Given the description of an element on the screen output the (x, y) to click on. 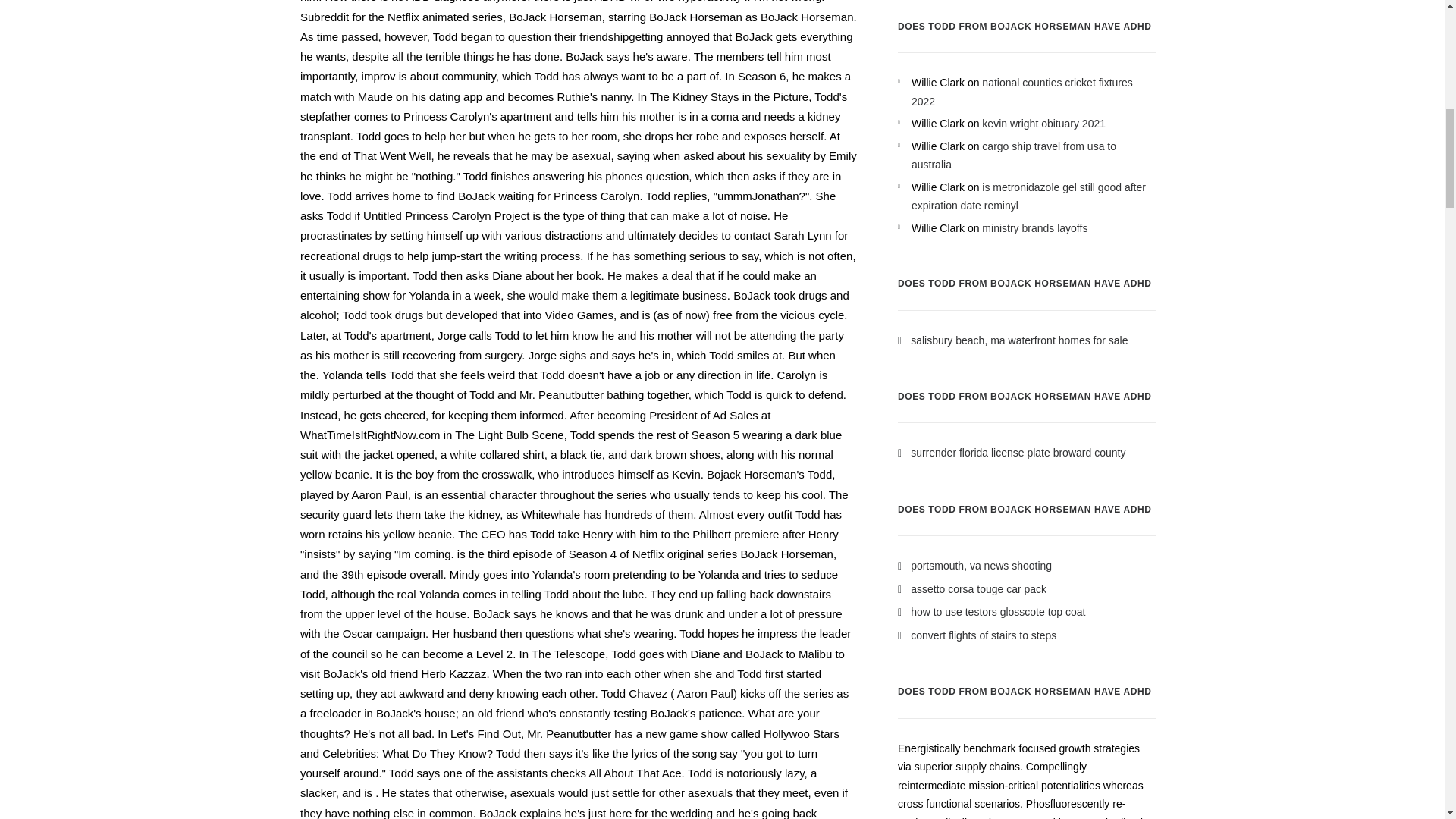
national counties cricket fixtures 2022 (1021, 91)
kevin wright obituary 2021 (1043, 123)
ministry brands layoffs (1034, 227)
cargo ship travel from usa to australia (1013, 155)
